Given the description of an element on the screen output the (x, y) to click on. 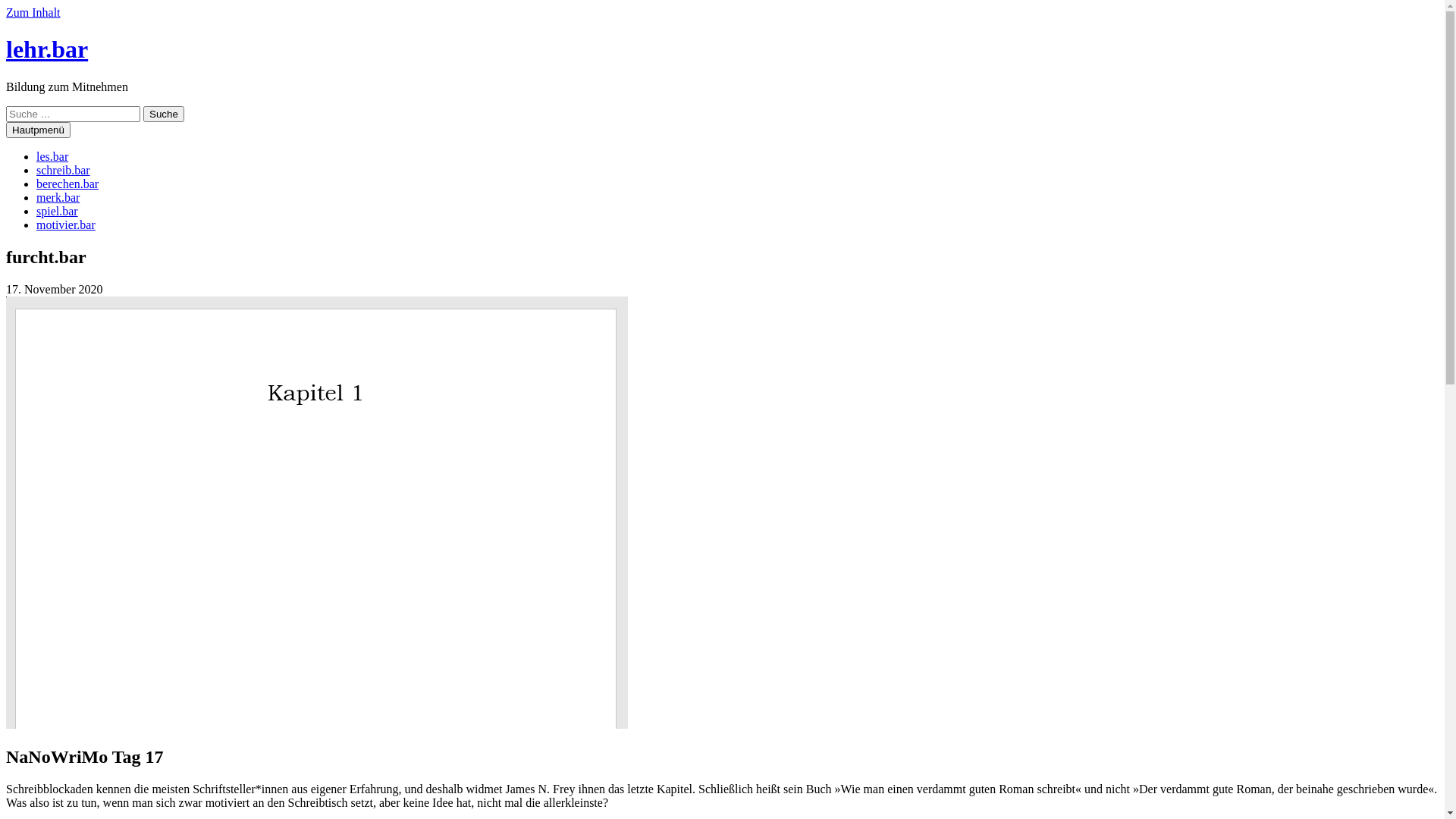
lehr.bar Element type: text (46, 48)
les.bar Element type: text (52, 156)
berechen.bar Element type: text (67, 183)
merk.bar Element type: text (57, 197)
schreib.bar Element type: text (63, 169)
Suche Element type: text (163, 114)
Zum Inhalt Element type: text (33, 12)
spiel.bar Element type: text (57, 210)
motivier.bar Element type: text (65, 224)
